Given the description of an element on the screen output the (x, y) to click on. 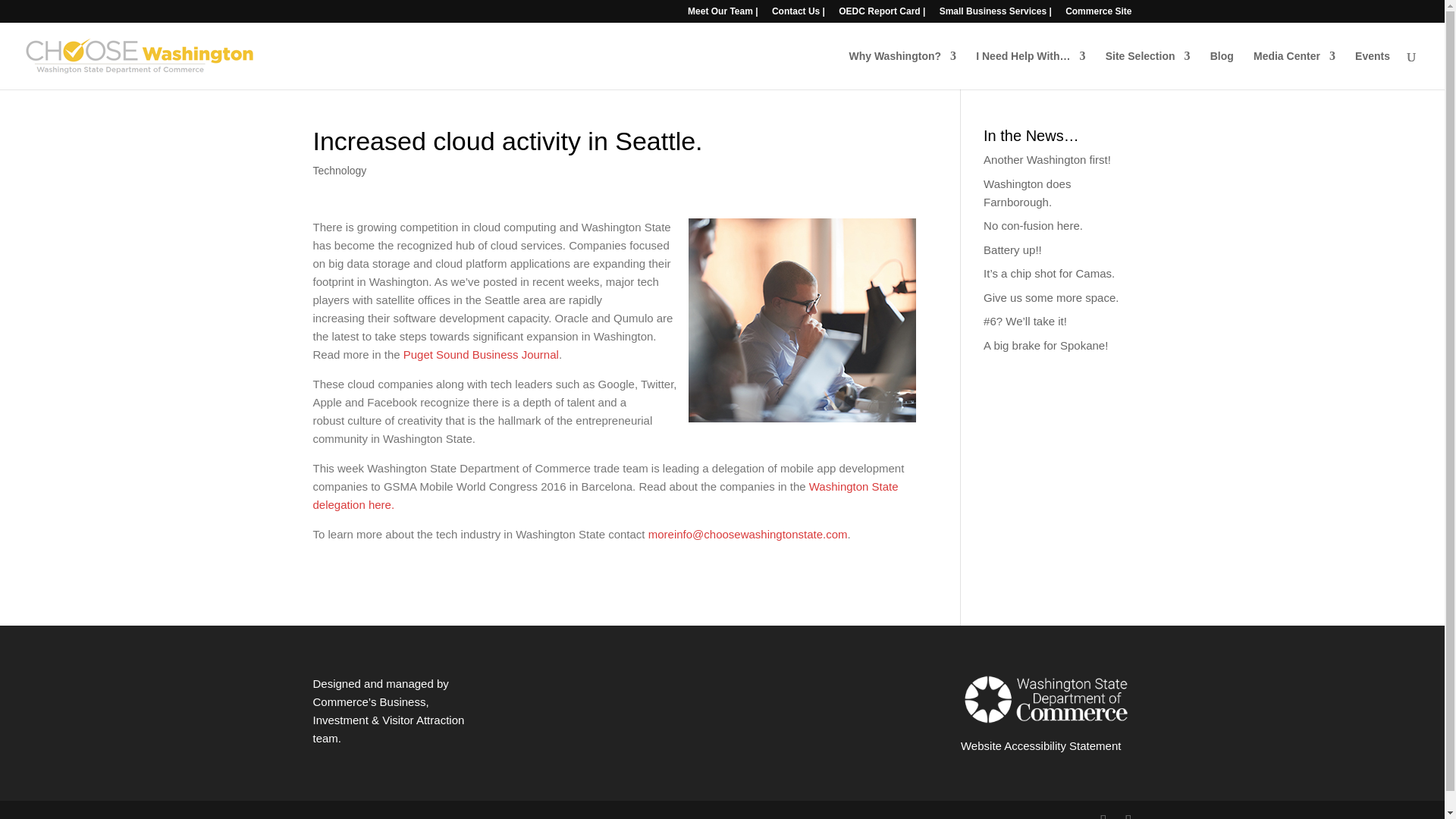
Why Washington? (902, 69)
Commerce Site (1098, 14)
